Given the description of an element on the screen output the (x, y) to click on. 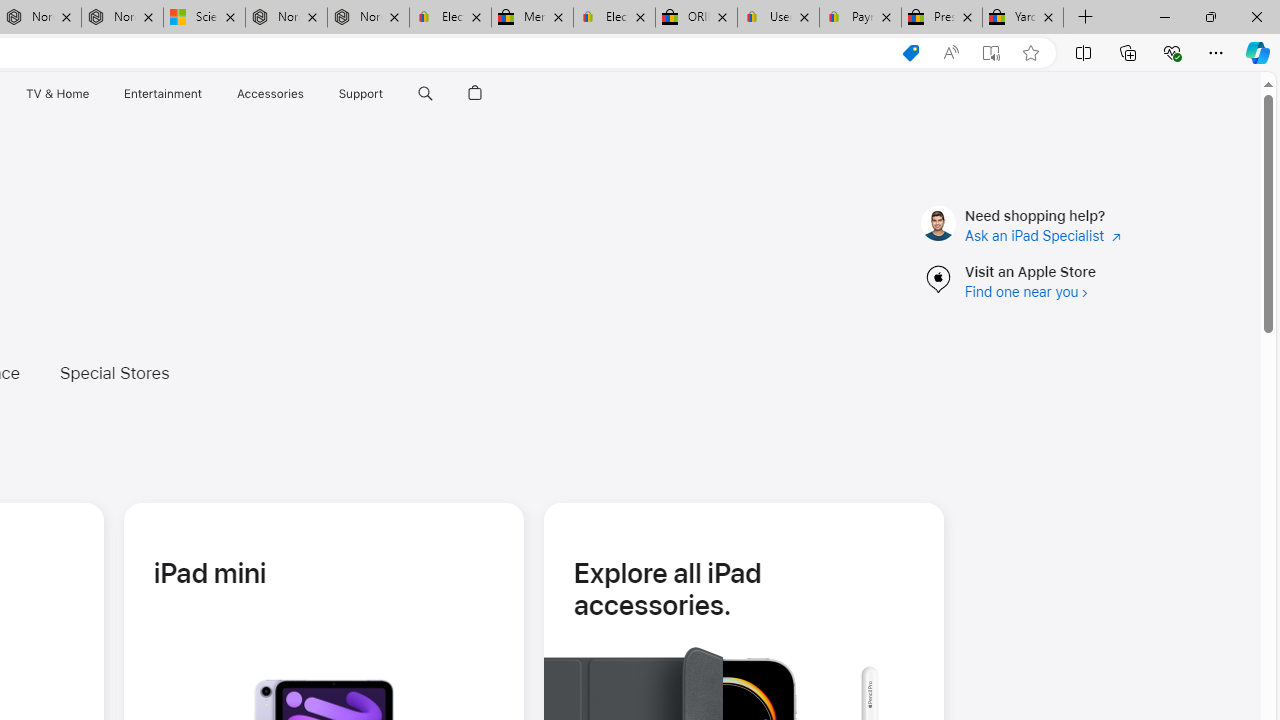
Entertainment (162, 93)
